Given the description of an element on the screen output the (x, y) to click on. 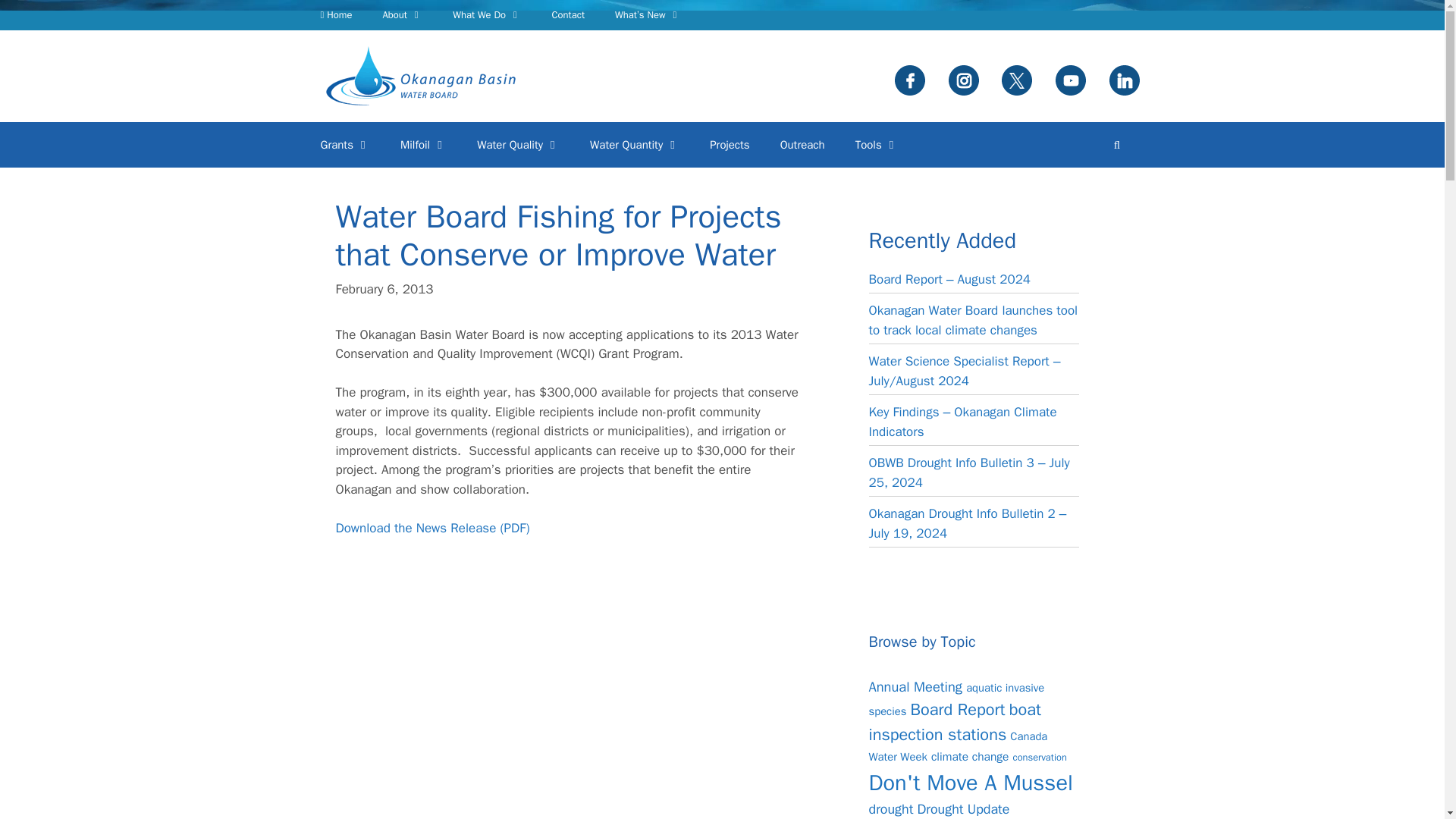
About (402, 15)
About (402, 15)
Home (335, 15)
 Home (335, 15)
What We Do (486, 15)
Contact (567, 15)
